Given the description of an element on the screen output the (x, y) to click on. 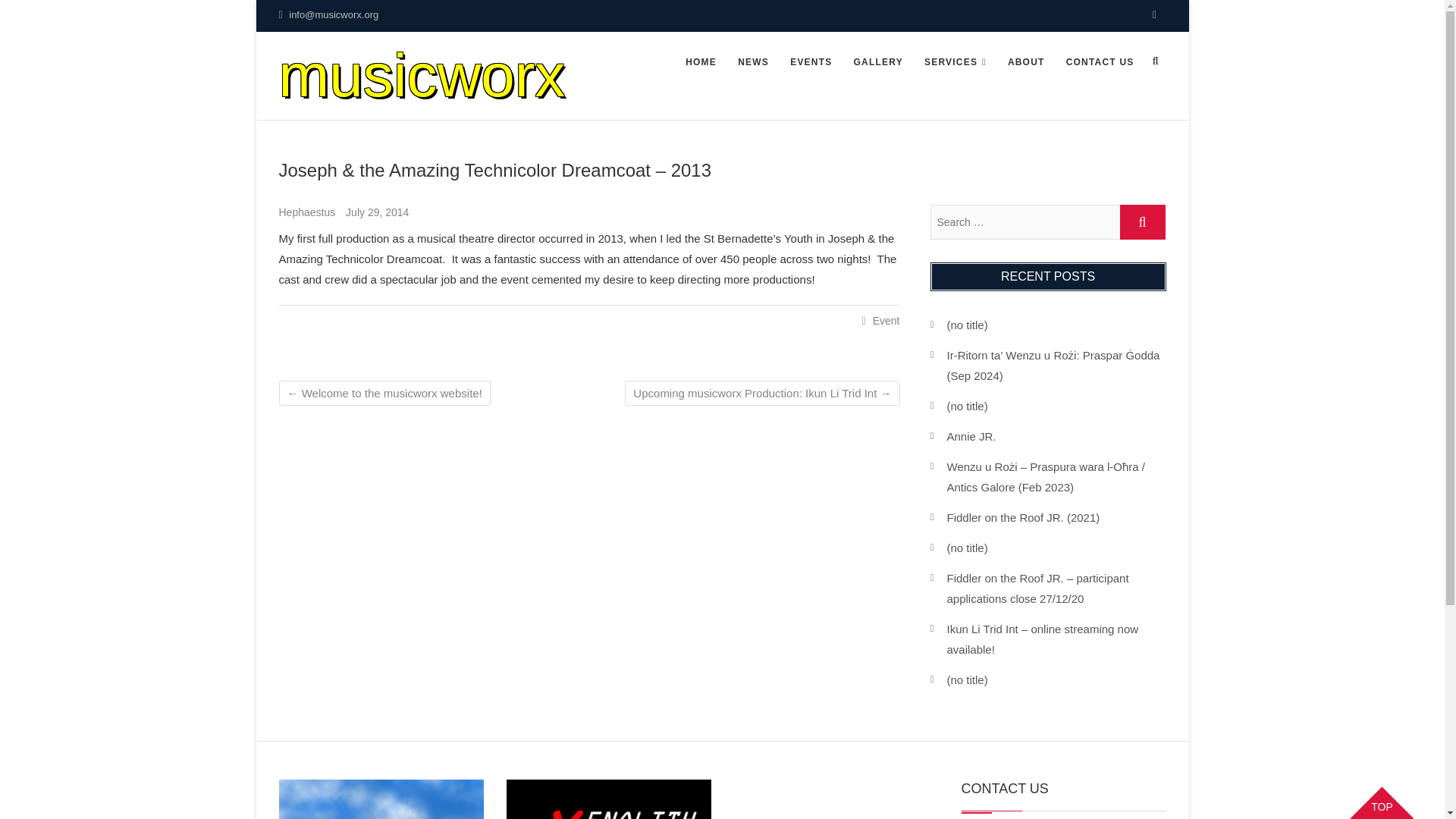
GALLERY (878, 62)
Hephaestus (309, 212)
TOP (1381, 800)
Annie JR. (970, 436)
Event (885, 320)
EVENTS (810, 62)
musicworx (422, 75)
10:57 am (377, 212)
Facebook (1154, 15)
July 29, 2014 (377, 212)
